Given the description of an element on the screen output the (x, y) to click on. 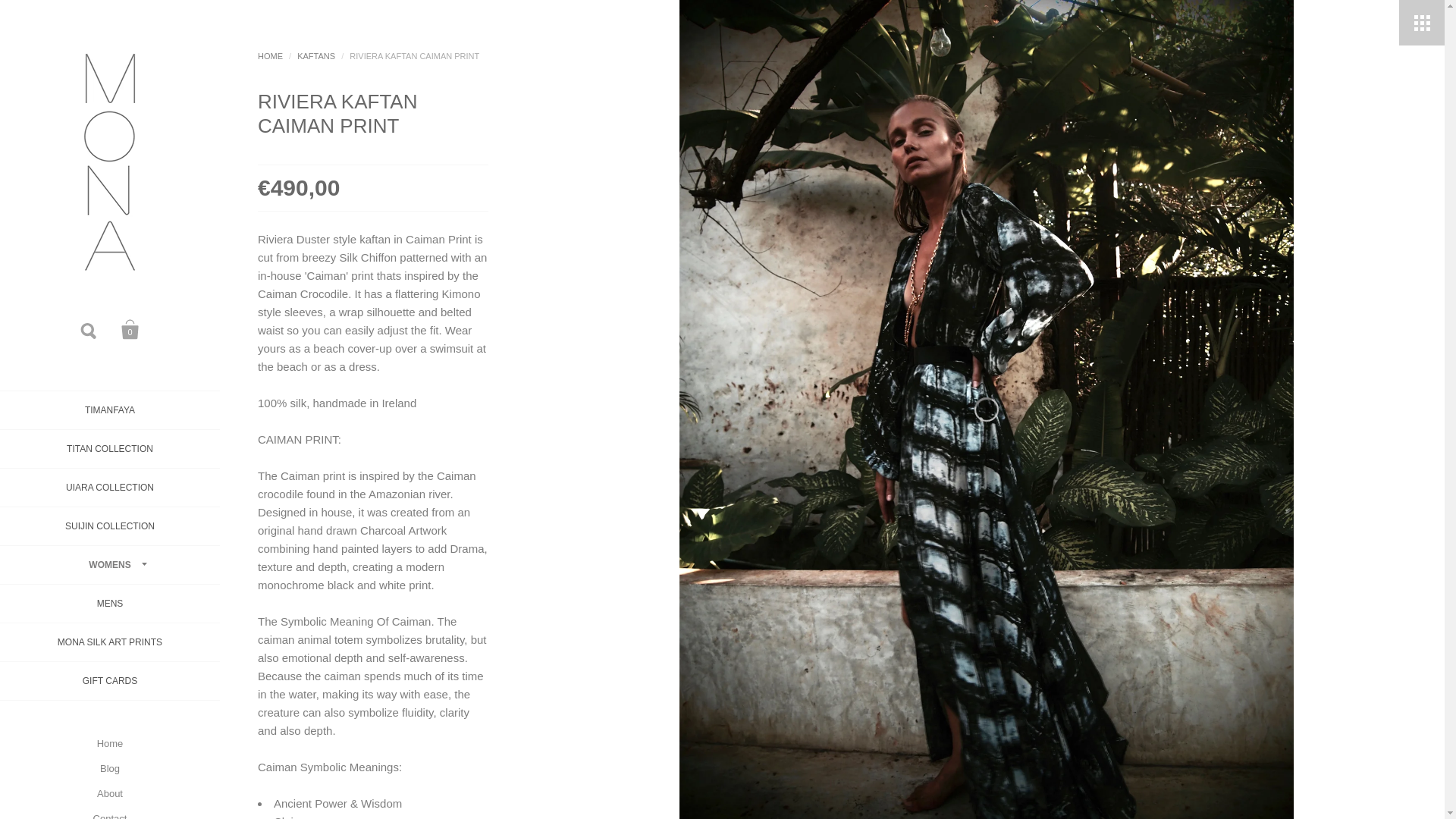
TIMANFAYA (109, 410)
GIFT CARDS (109, 681)
SUIJIN COLLECTION (109, 526)
MENS (109, 603)
Home (109, 743)
Blog (109, 768)
About (109, 793)
Cart (130, 329)
Search (89, 329)
MONA SILK ART PRINTS (109, 642)
